Given the description of an element on the screen output the (x, y) to click on. 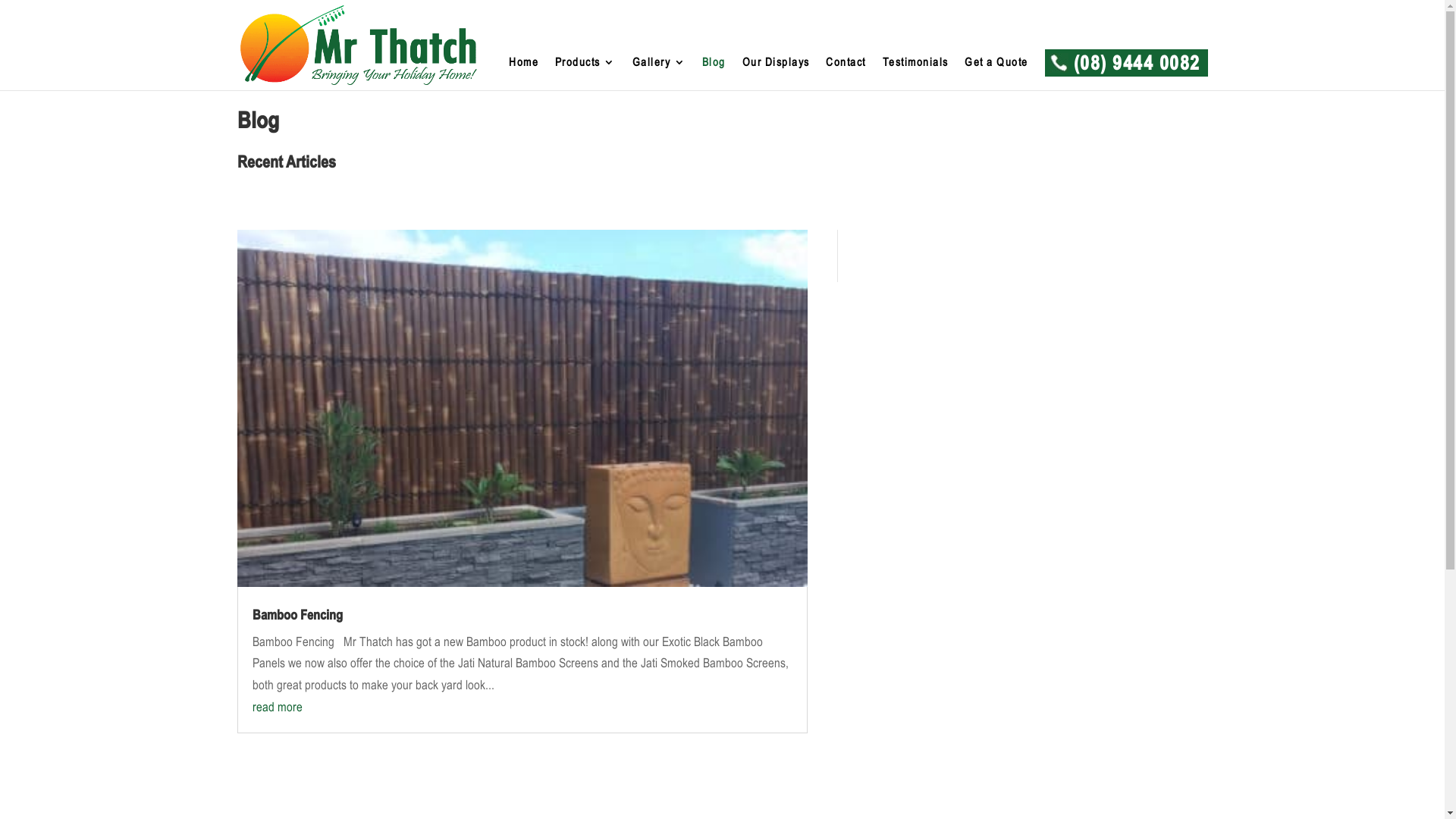
Gallery Element type: text (659, 73)
Bamboo Fencing Element type: text (296, 615)
Testimonials Element type: text (915, 73)
(08) 9444 0082 Element type: text (1126, 75)
Our Displays Element type: text (775, 73)
Products Element type: text (585, 73)
Get a Quote Element type: text (996, 73)
read more Element type: text (276, 706)
Blog Element type: text (713, 73)
Home Element type: text (523, 73)
Contact Element type: text (845, 73)
